Given the description of an element on the screen output the (x, y) to click on. 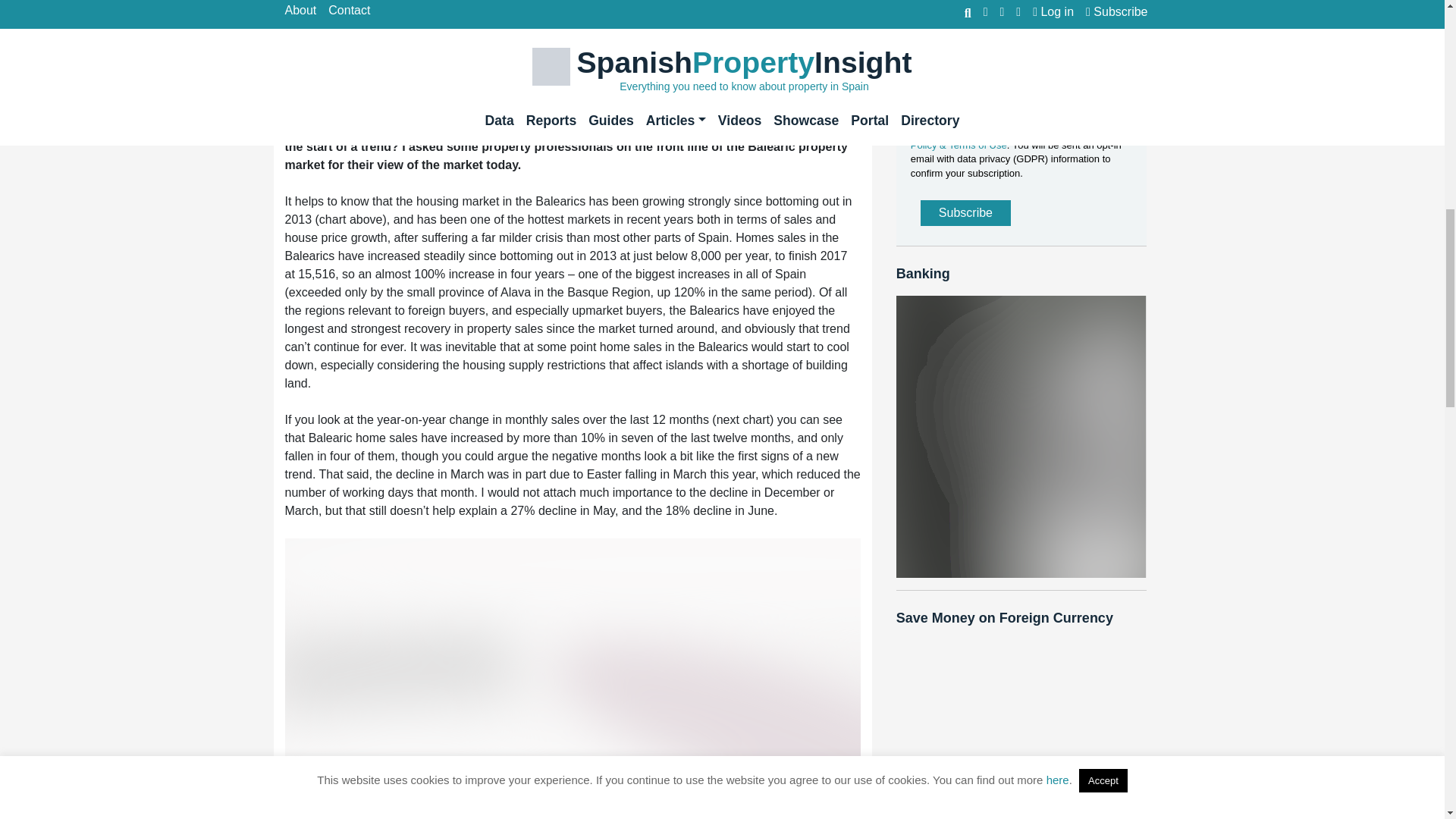
Looking to sell (919, 9)
Subscribe (965, 212)
Professional interest (919, 73)
Homeowner (919, 31)
Journalist (919, 52)
Other (919, 94)
